Given the description of an element on the screen output the (x, y) to click on. 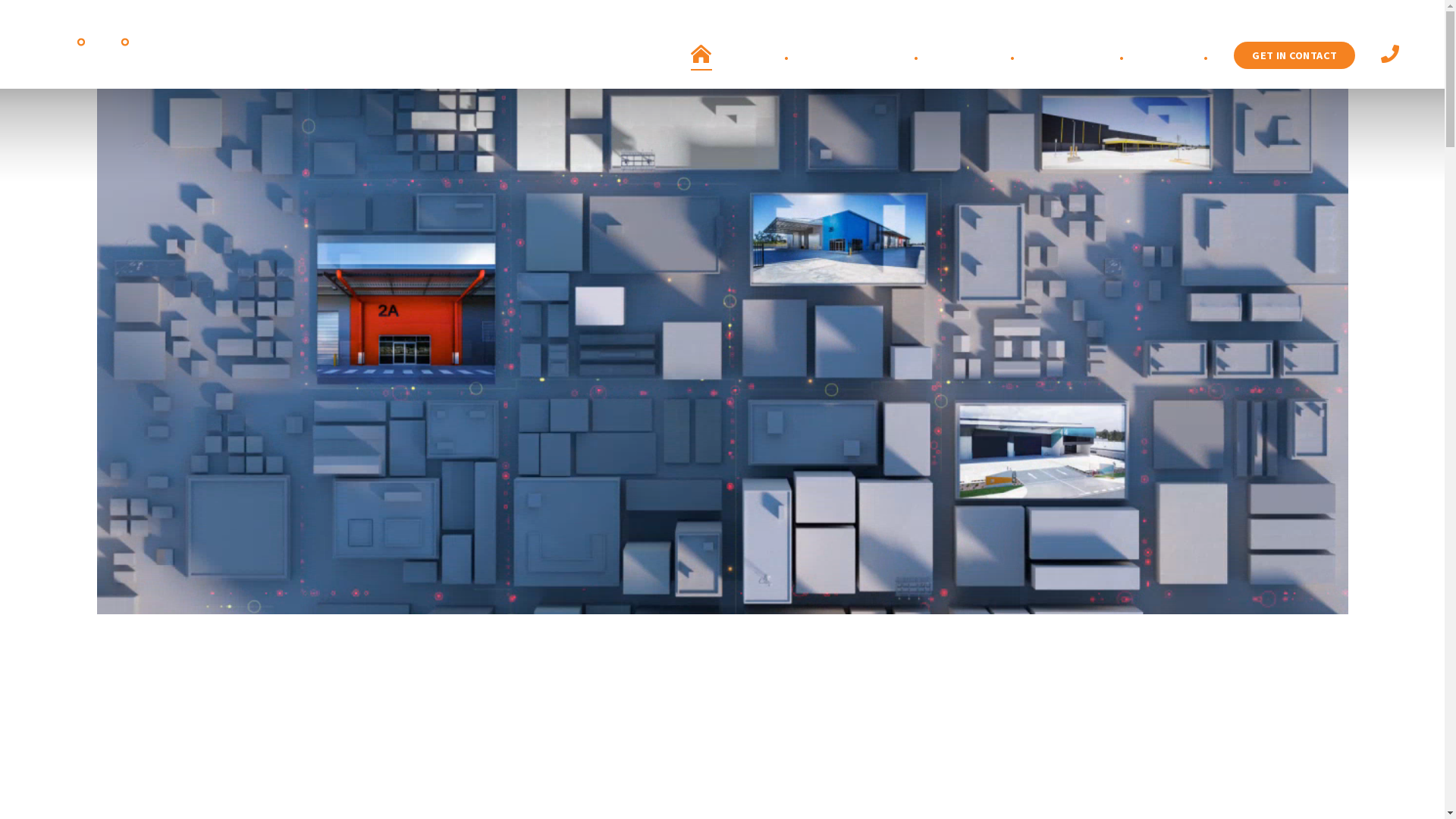
OUR WAY. Element type: text (762, 54)
CORE CAPABILITIES. Element type: text (866, 54)
OUR PEOPLE. Element type: text (979, 54)
OUR PROJECTS. Element type: text (1081, 54)
GET IN CONTACT Element type: text (1294, 55)
OUR NEWS. Element type: text (1178, 54)
